Given the description of an element on the screen output the (x, y) to click on. 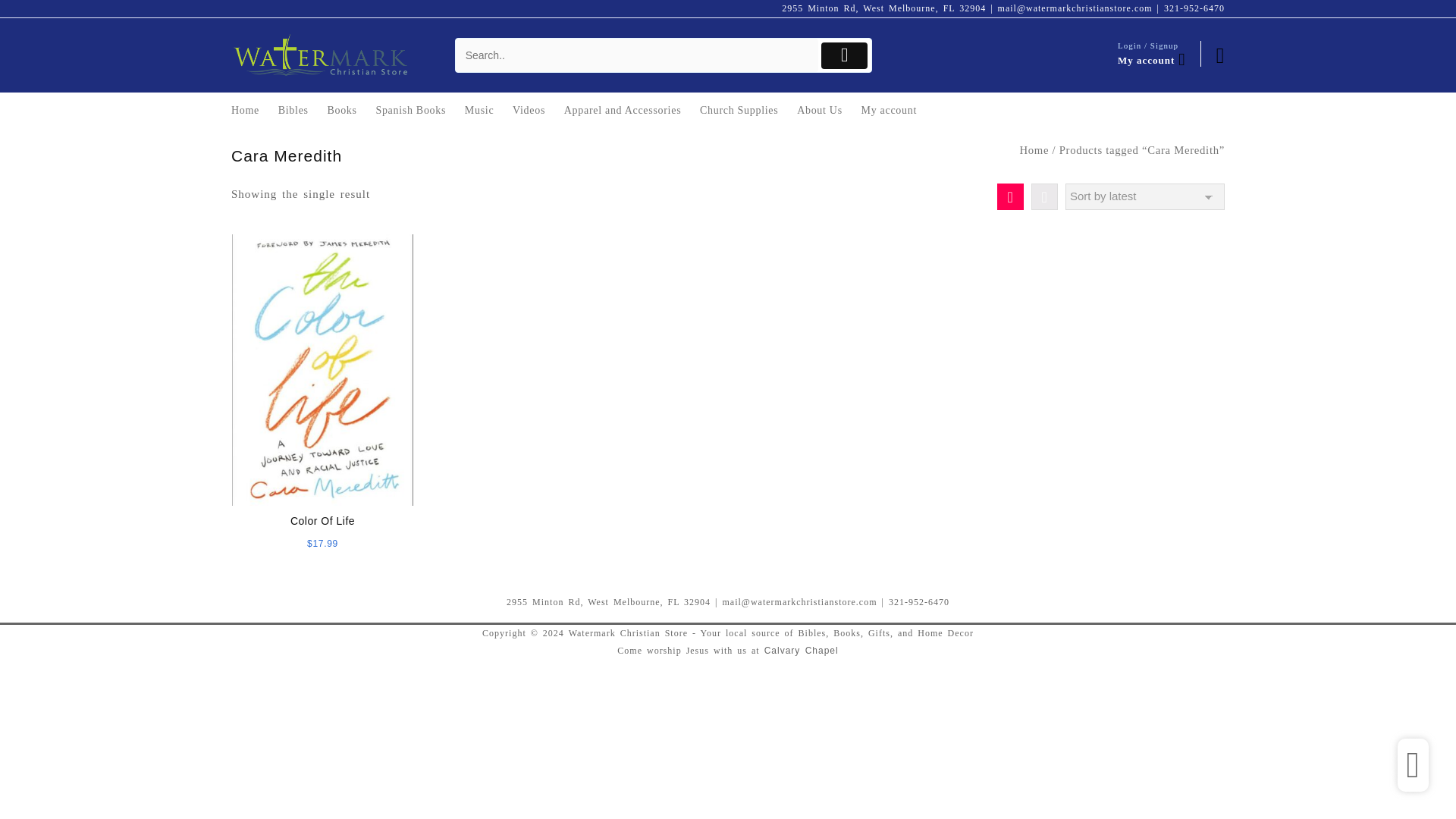
Grid View (1010, 196)
321-952-6470 (1193, 8)
Submit (844, 55)
Search (636, 55)
2955 Minton Rd, West Melbourne, FL 32904 (883, 8)
List View (1044, 196)
